Given the description of an element on the screen output the (x, y) to click on. 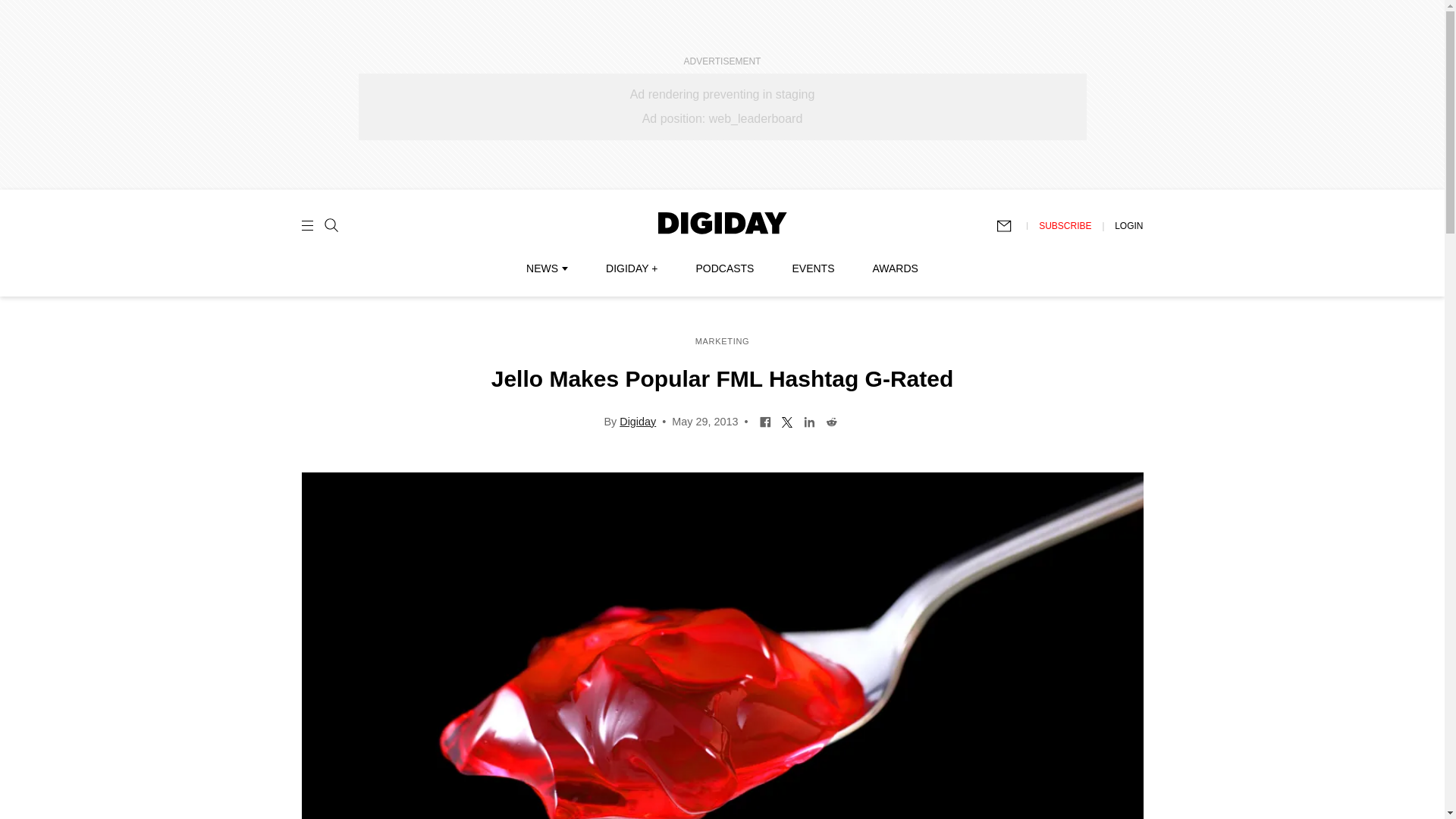
SUBSCRIBE (1064, 225)
Subscribe (1010, 225)
AWARDS (894, 267)
PODCASTS (725, 267)
Share on Reddit (831, 420)
Share on Twitter (786, 420)
Share on Facebook (764, 420)
LOGIN (1128, 225)
Share on LinkedIn (809, 420)
EVENTS (813, 267)
